Given the description of an element on the screen output the (x, y) to click on. 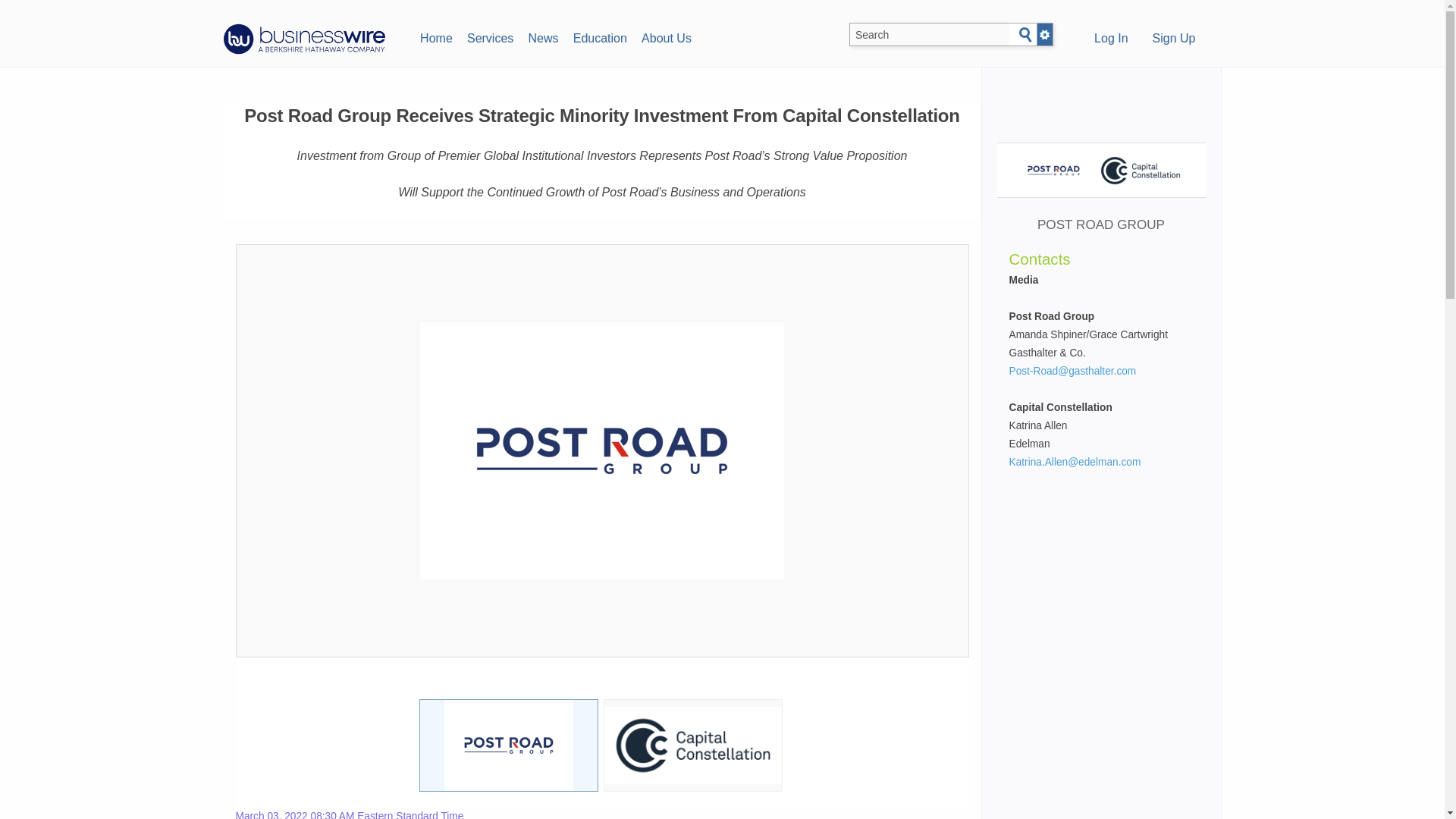
Home (436, 36)
Services (490, 36)
Education (599, 36)
Search BusinessWire.com (930, 34)
News (543, 36)
